Given the description of an element on the screen output the (x, y) to click on. 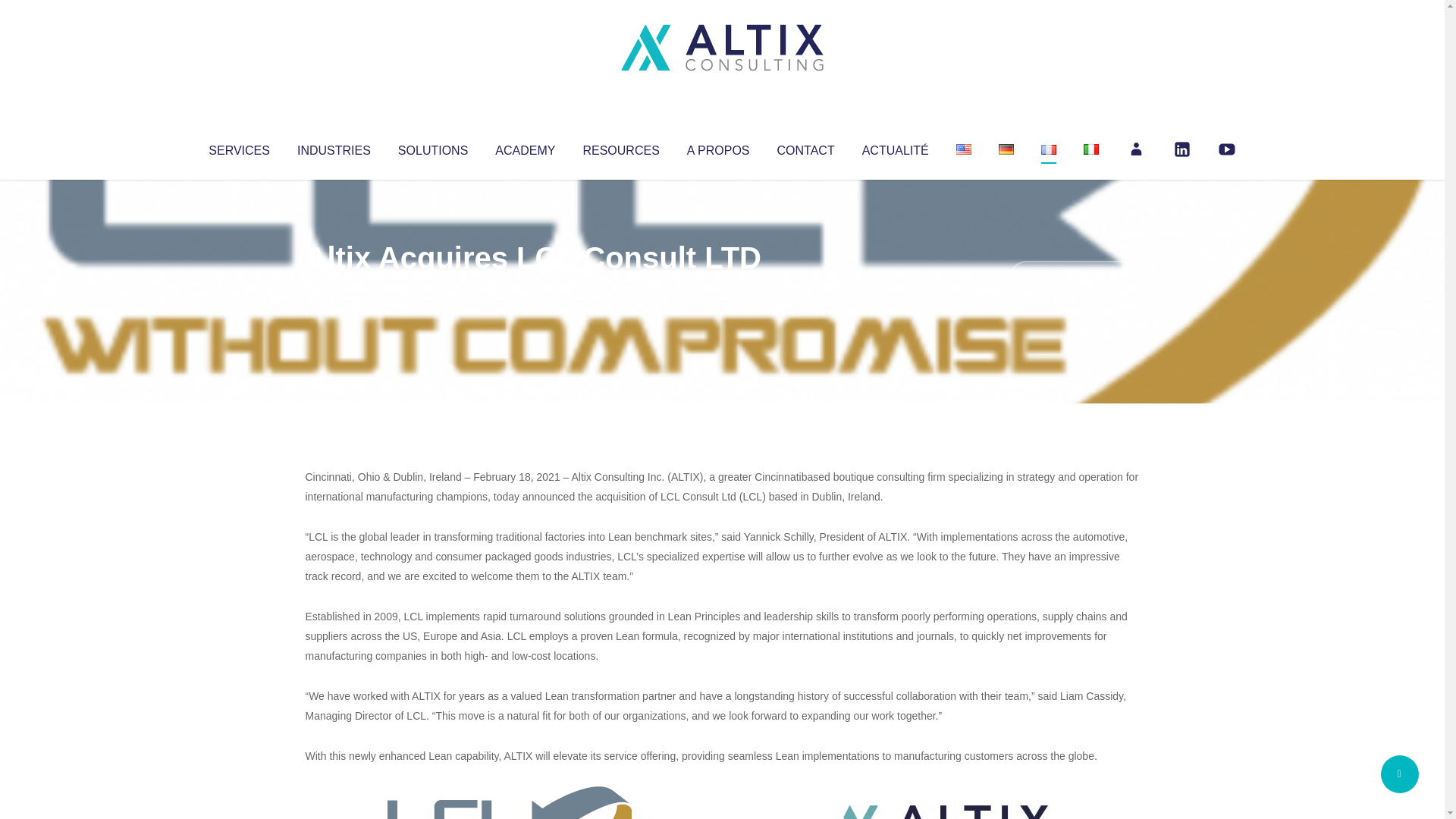
ACADEMY (524, 146)
Uncategorized (530, 287)
SERVICES (238, 146)
INDUSTRIES (334, 146)
No Comments (1073, 278)
RESOURCES (620, 146)
Articles par Altix (333, 287)
SOLUTIONS (432, 146)
A PROPOS (718, 146)
Altix (333, 287)
